Given the description of an element on the screen output the (x, y) to click on. 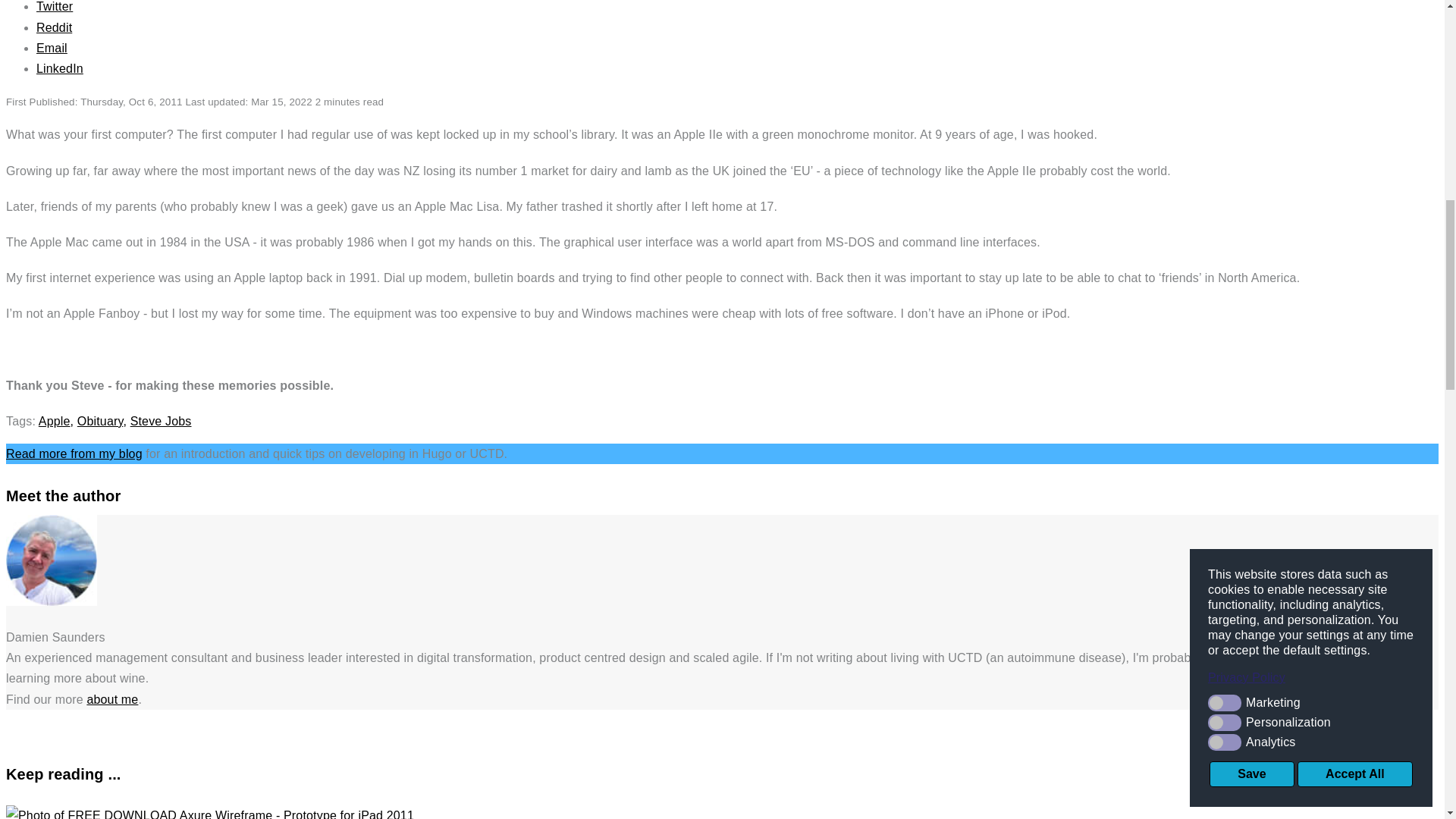
LinkedIn (59, 68)
Reddit (53, 27)
Read more from my blog (73, 453)
Email (51, 47)
Obituary (100, 420)
Apple (54, 420)
Steve Jobs (161, 420)
about me (111, 698)
Twitter (54, 6)
